Given the description of an element on the screen output the (x, y) to click on. 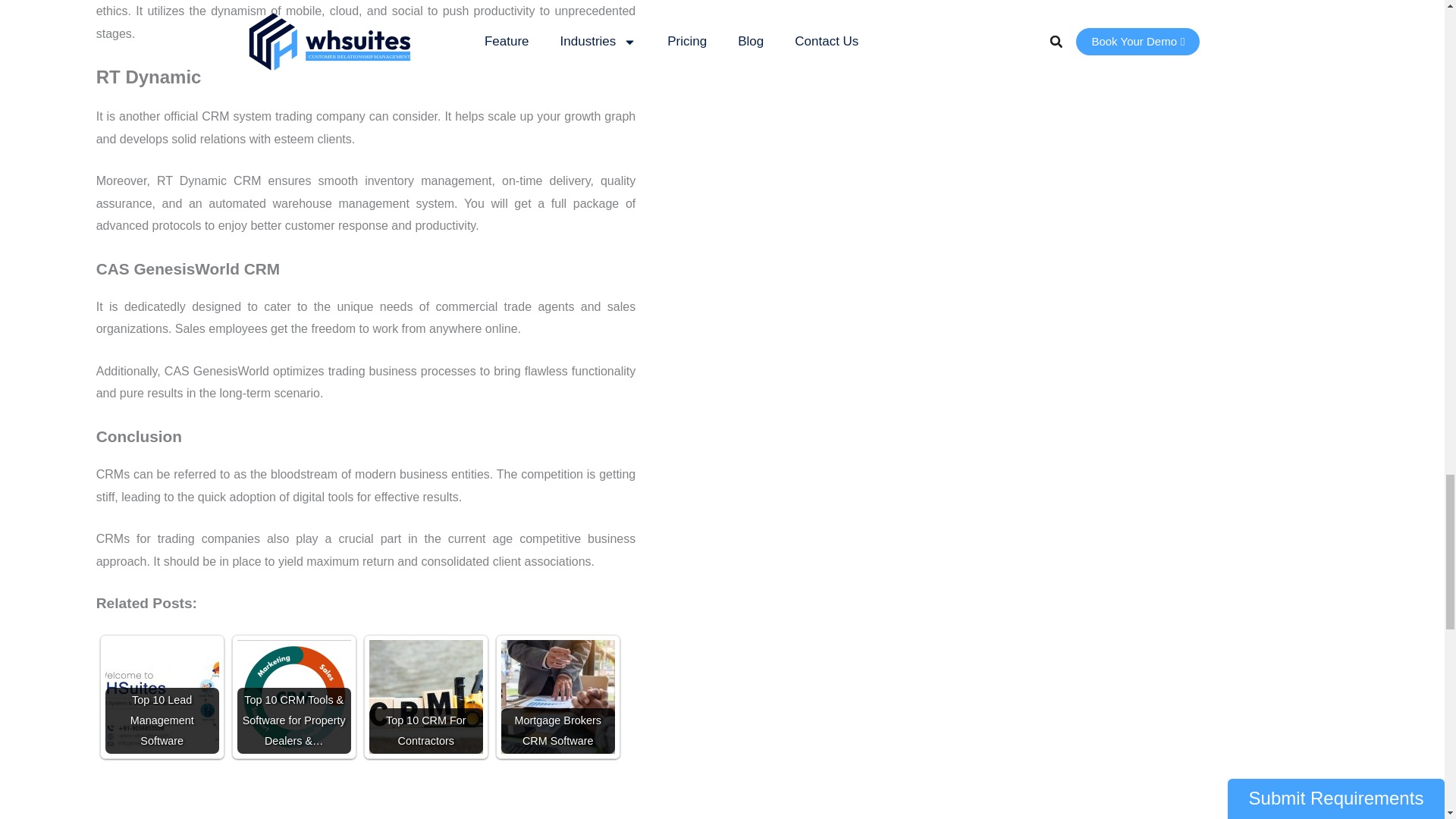
Mortgage Brokers CRM Software (557, 696)
Top 10 CRM For Contractors (426, 696)
Top 10 Lead Management Software (161, 696)
